Given the description of an element on the screen output the (x, y) to click on. 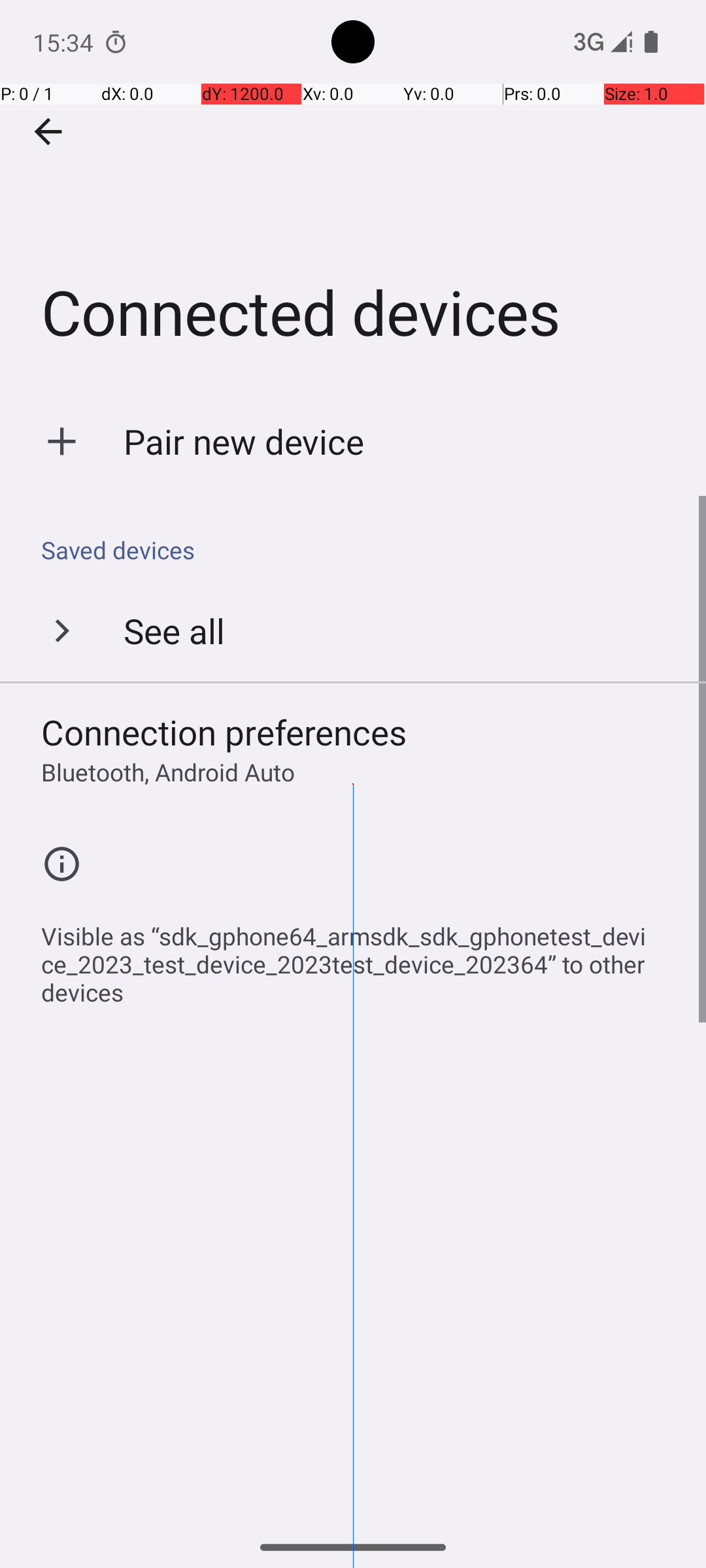
Visible as “sdk_gphone64_armsdk_sdk_gphonetest_device_2023_test_device_2023test_device_202364” to other devices Element type: android.widget.TextView (359, 956)
